Given the description of an element on the screen output the (x, y) to click on. 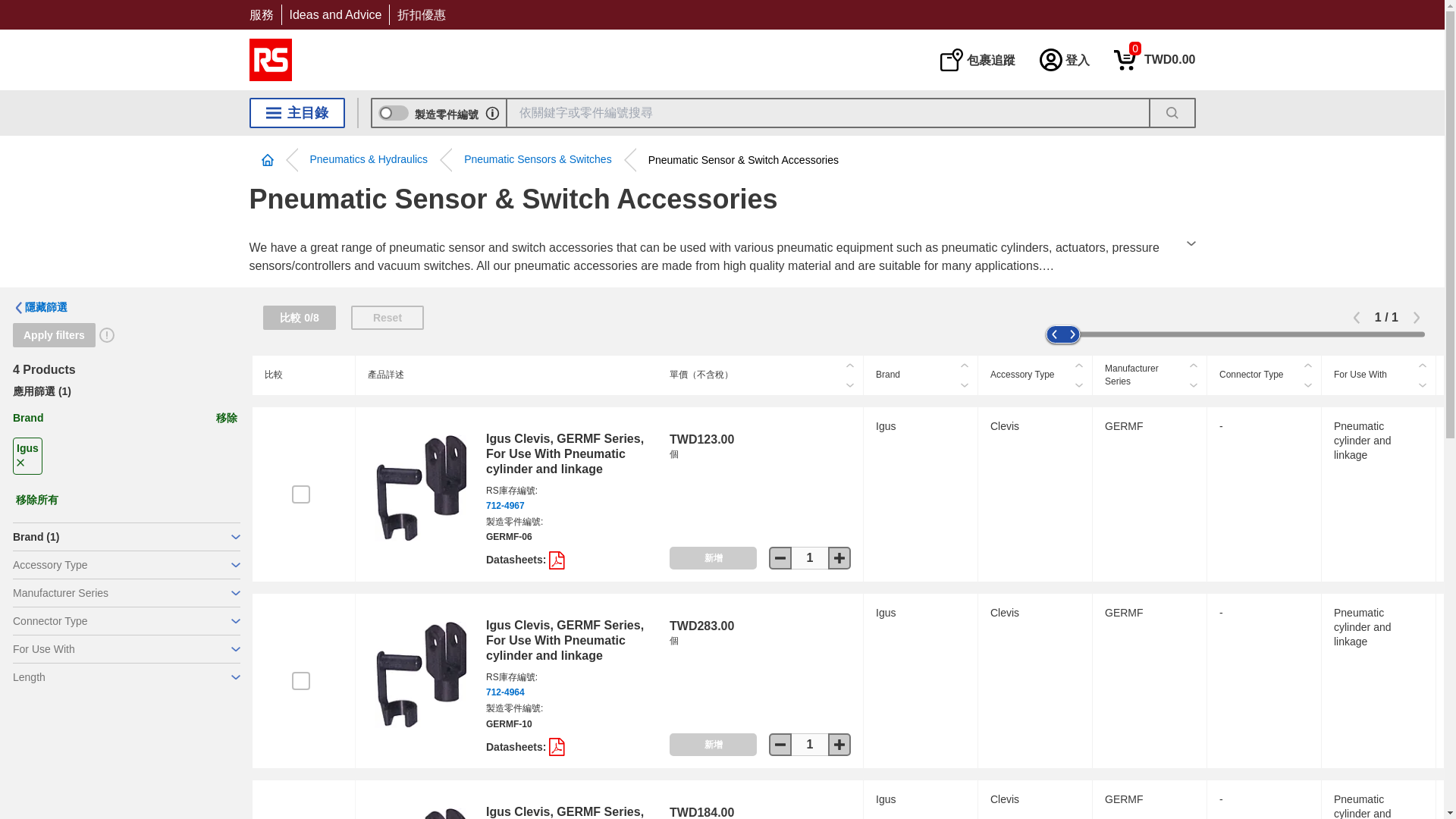
on (299, 494)
0 (1154, 59)
on (299, 680)
1 (1154, 59)
Ideas and Advice (810, 558)
1 (335, 14)
